Given the description of an element on the screen output the (x, y) to click on. 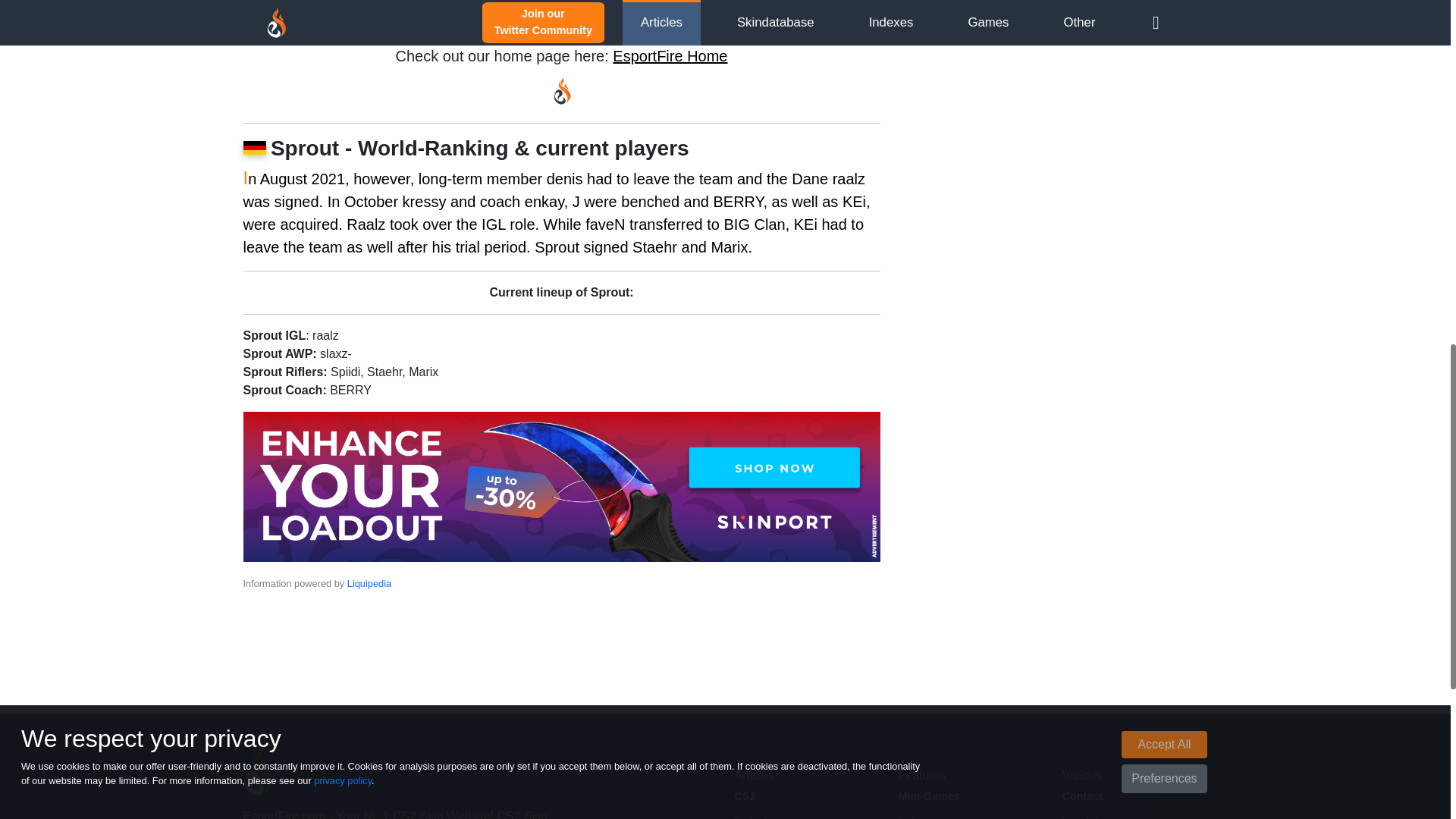
EsportFire Home (669, 55)
Liquipedia (369, 583)
